Given the description of an element on the screen output the (x, y) to click on. 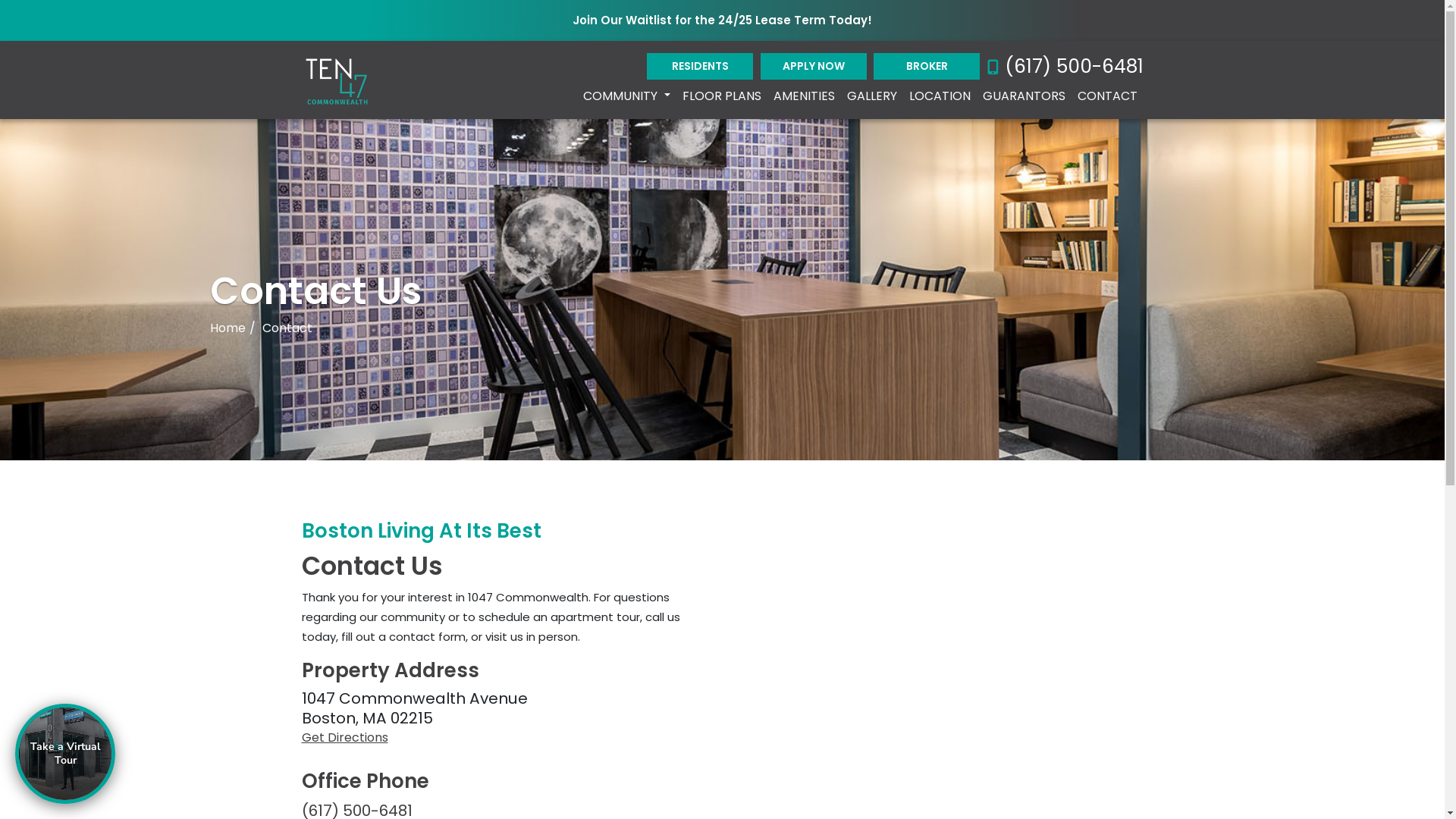
BROKER Element type: text (926, 66)
RESIDENTS Element type: text (699, 66)
(617) 500-6481 Element type: text (1065, 66)
COMMUNITY Element type: text (626, 95)
CONTACT Element type: text (1106, 95)
FLOOR PLANS Element type: text (721, 95)
Get Directions Element type: text (506, 737)
AMENITIES Element type: text (803, 95)
Home Element type: text (227, 328)
APPLY NOW Element type: text (813, 66)
GUARANTORS Element type: text (1023, 95)
LOCATION Element type: text (938, 95)
Join Our Waitlist for the 24/25 Lease Term Today! Element type: text (722, 20)
GALLERY Element type: text (871, 95)
